Given the description of an element on the screen output the (x, y) to click on. 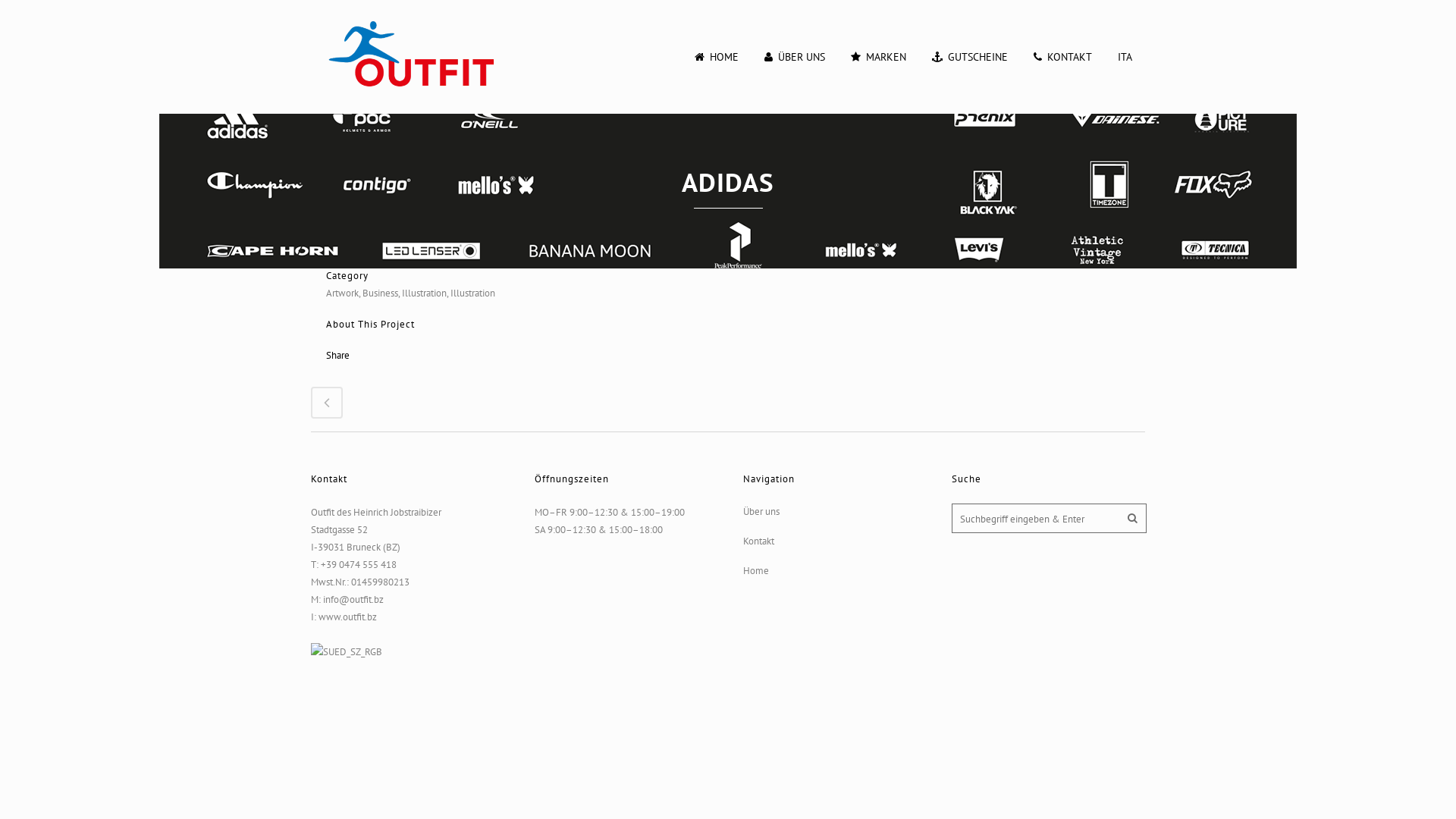
KONTAKT Element type: text (1062, 56)
Share Element type: text (337, 354)
MARKEN Element type: text (878, 56)
info@outfit.bz Element type: text (351, 599)
www.outfit.bz Element type: text (346, 616)
HOME Element type: text (716, 56)
Home Element type: text (837, 570)
GUTSCHEINE Element type: text (969, 56)
Kontakt Element type: text (837, 541)
ITA Element type: text (1124, 56)
